Given the description of an element on the screen output the (x, y) to click on. 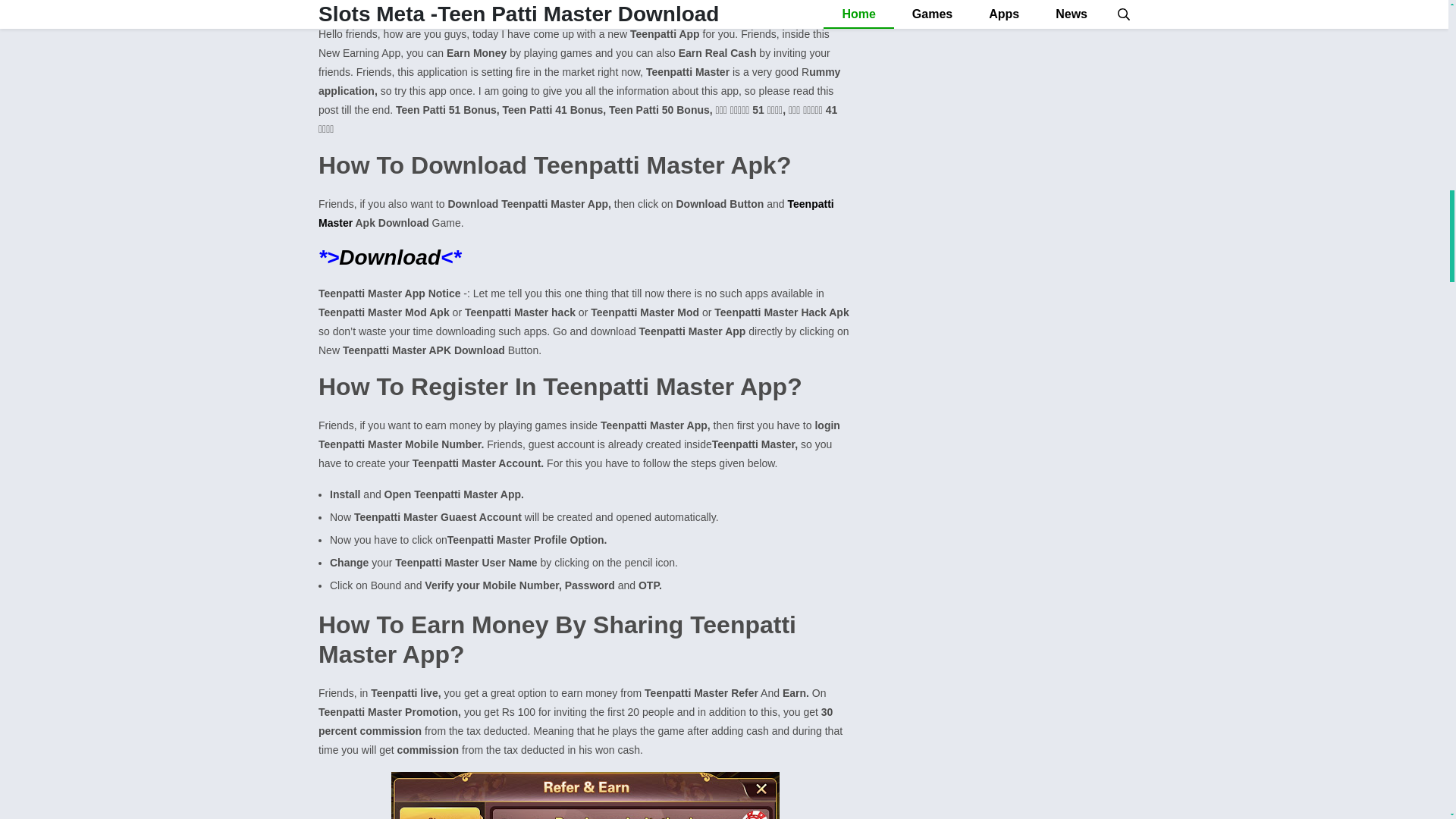
Teenpatti Master (576, 213)
Download (390, 257)
